Given the description of an element on the screen output the (x, y) to click on. 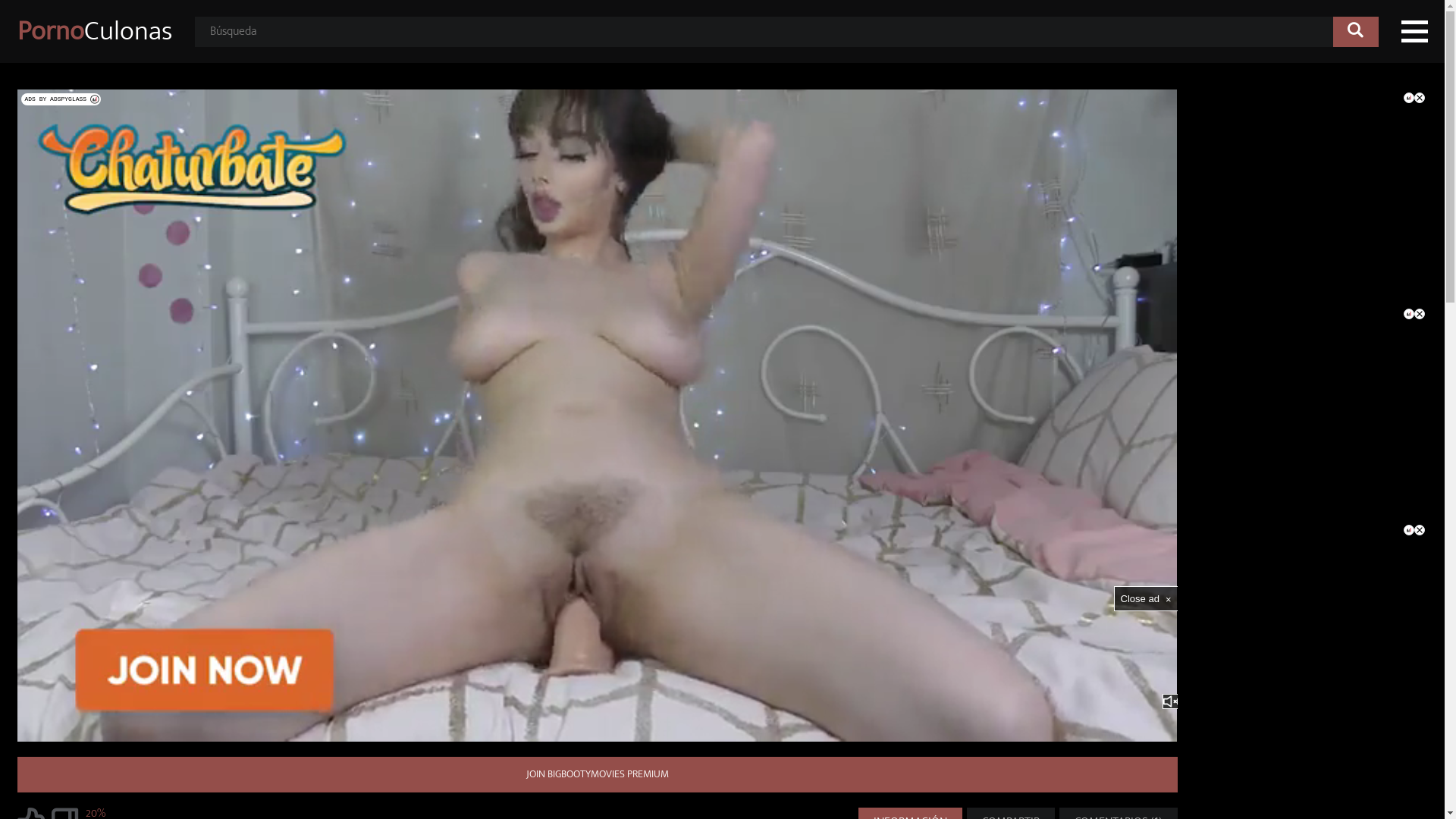
JOIN BIGBOOTYMOVIES PREMIUM Element type: text (596, 774)
Copy to your site Element type: hover (1155, 110)
PornoCulonas Element type: text (93, 31)
ADS BY ADSPYGLASS Element type: text (61, 99)
